Given the description of an element on the screen output the (x, y) to click on. 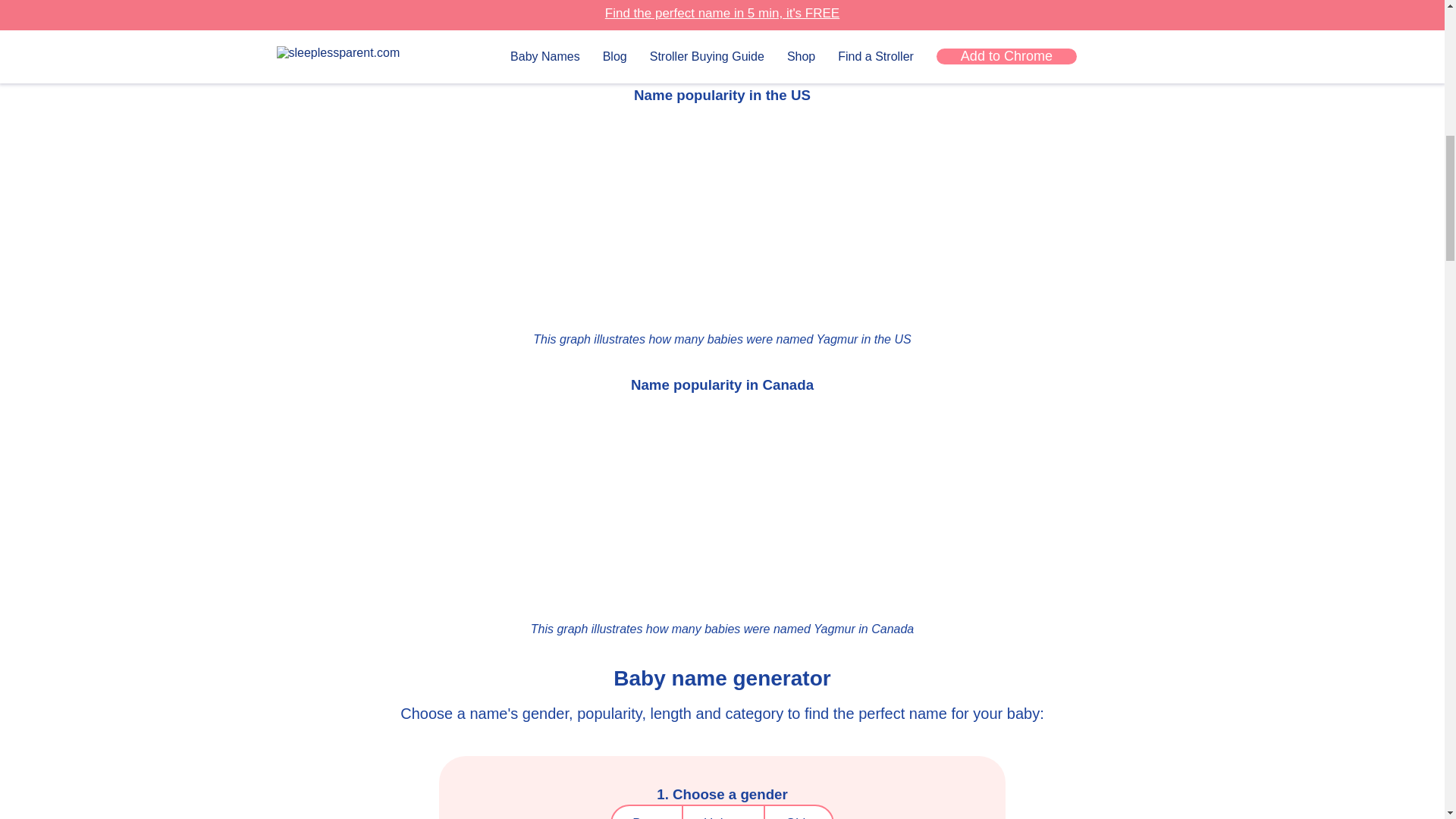
6 (689, 47)
